Given the description of an element on the screen output the (x, y) to click on. 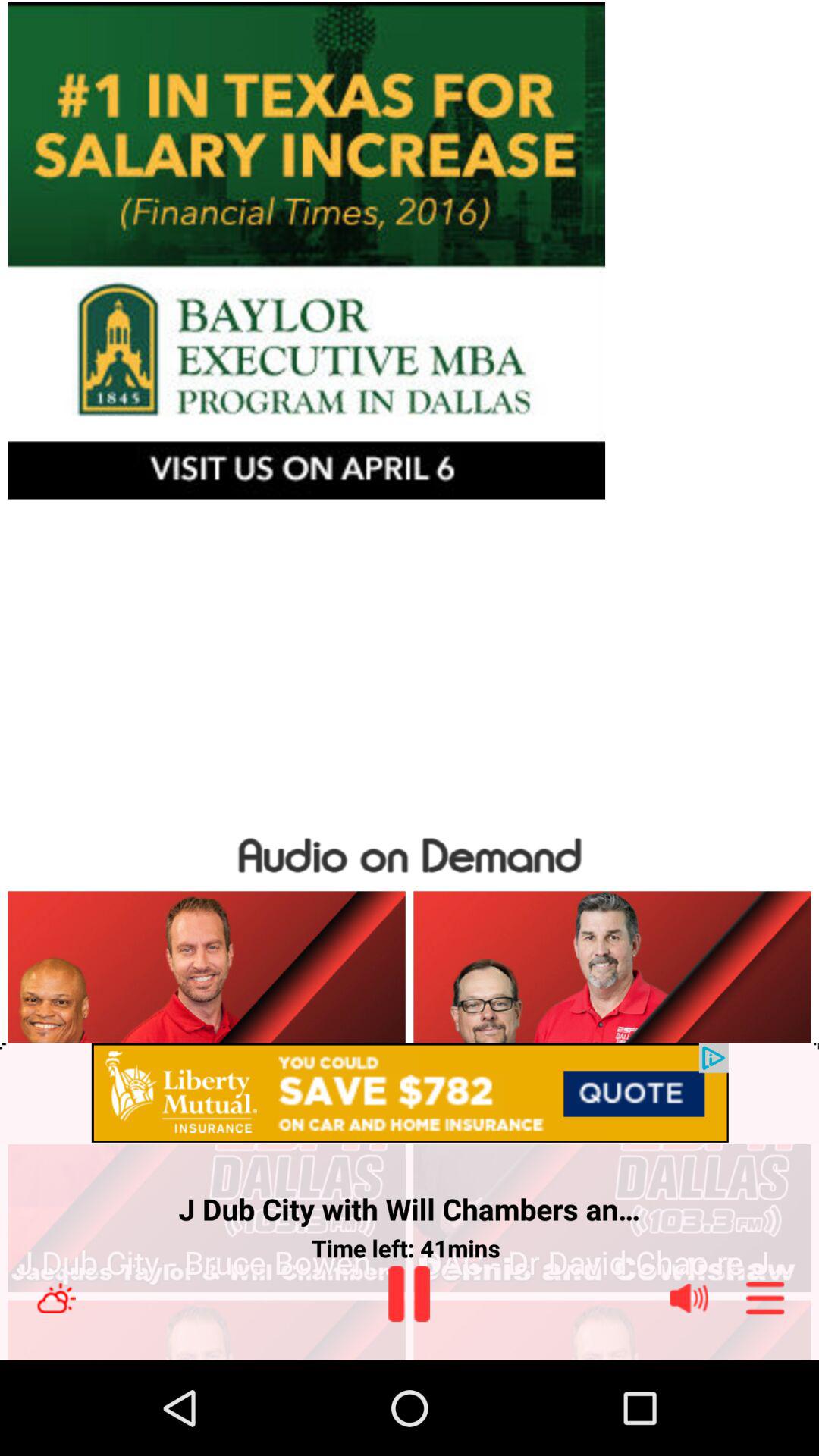
go to advertisement (409, 1093)
